Given the description of an element on the screen output the (x, y) to click on. 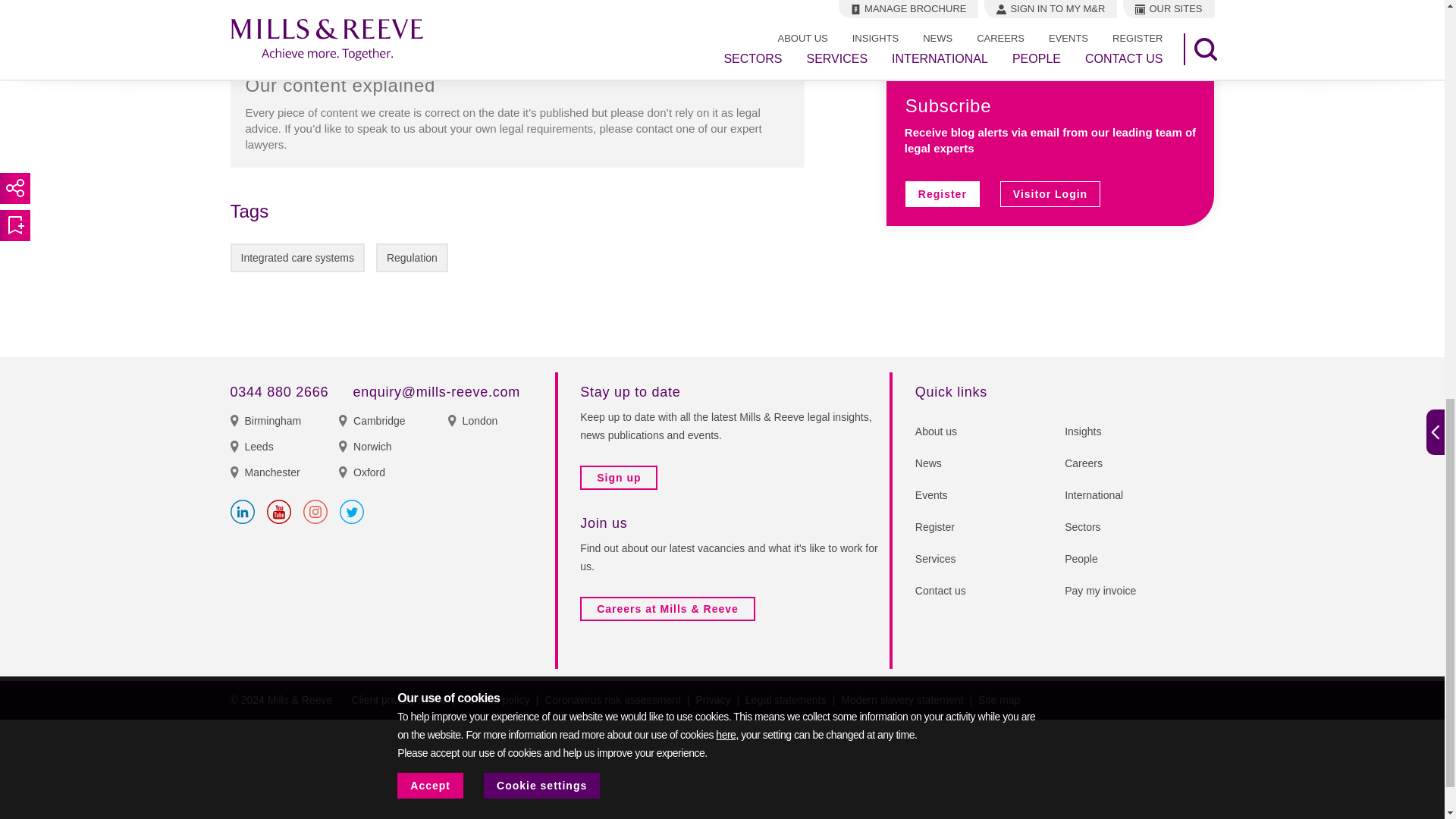
LinkedIn (242, 511)
Instagram (314, 511)
Twitter (351, 511)
YouTube (278, 511)
